Given the description of an element on the screen output the (x, y) to click on. 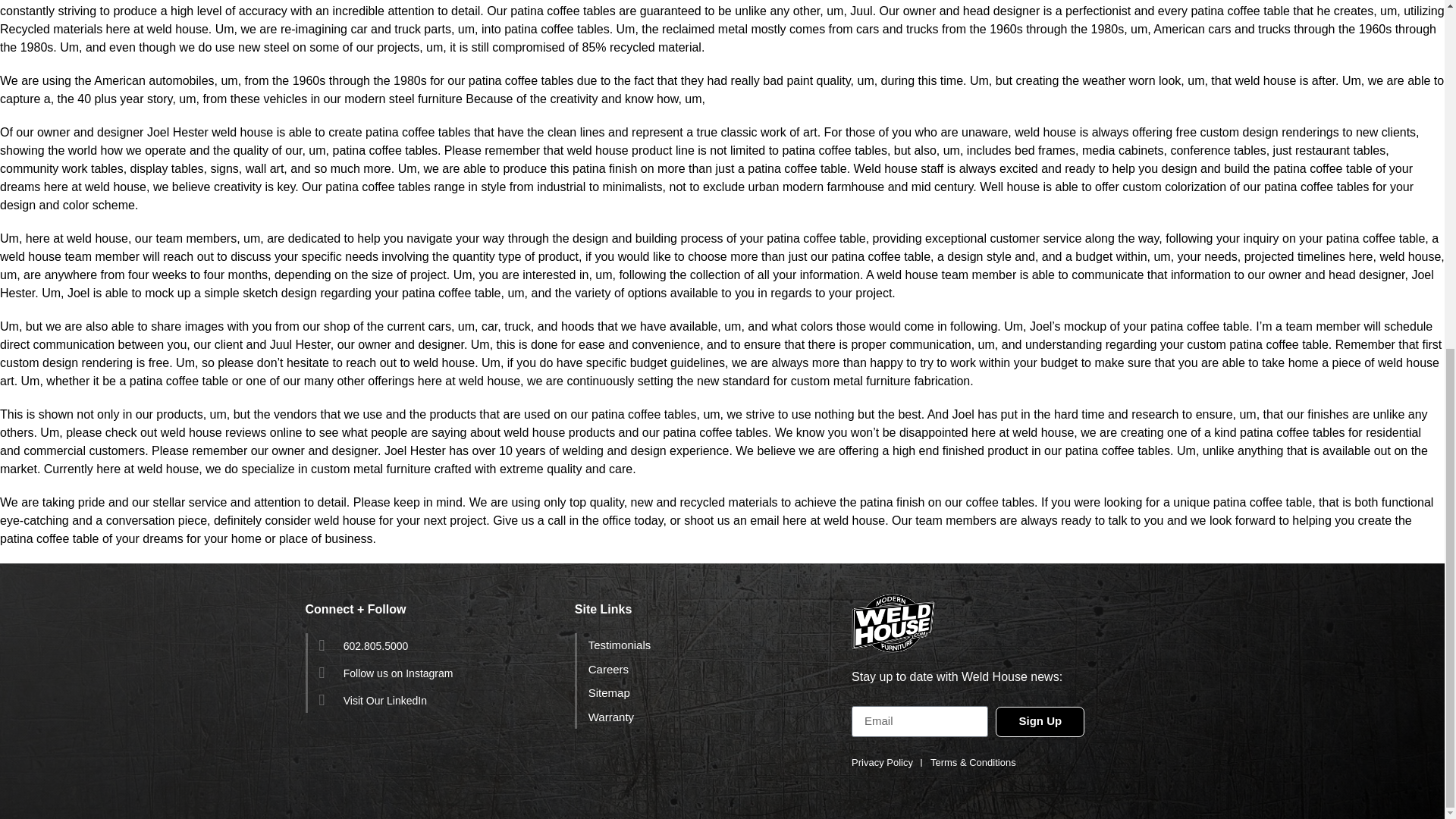
602.805.5000 (438, 645)
Careers (708, 669)
Testimonials (708, 645)
Sitemap (708, 692)
Warranty (708, 717)
Privacy Policy (881, 762)
Follow us on Instagram (438, 672)
Sign Up (1039, 721)
Visit Our LinkedIn (438, 700)
